Given the description of an element on the screen output the (x, y) to click on. 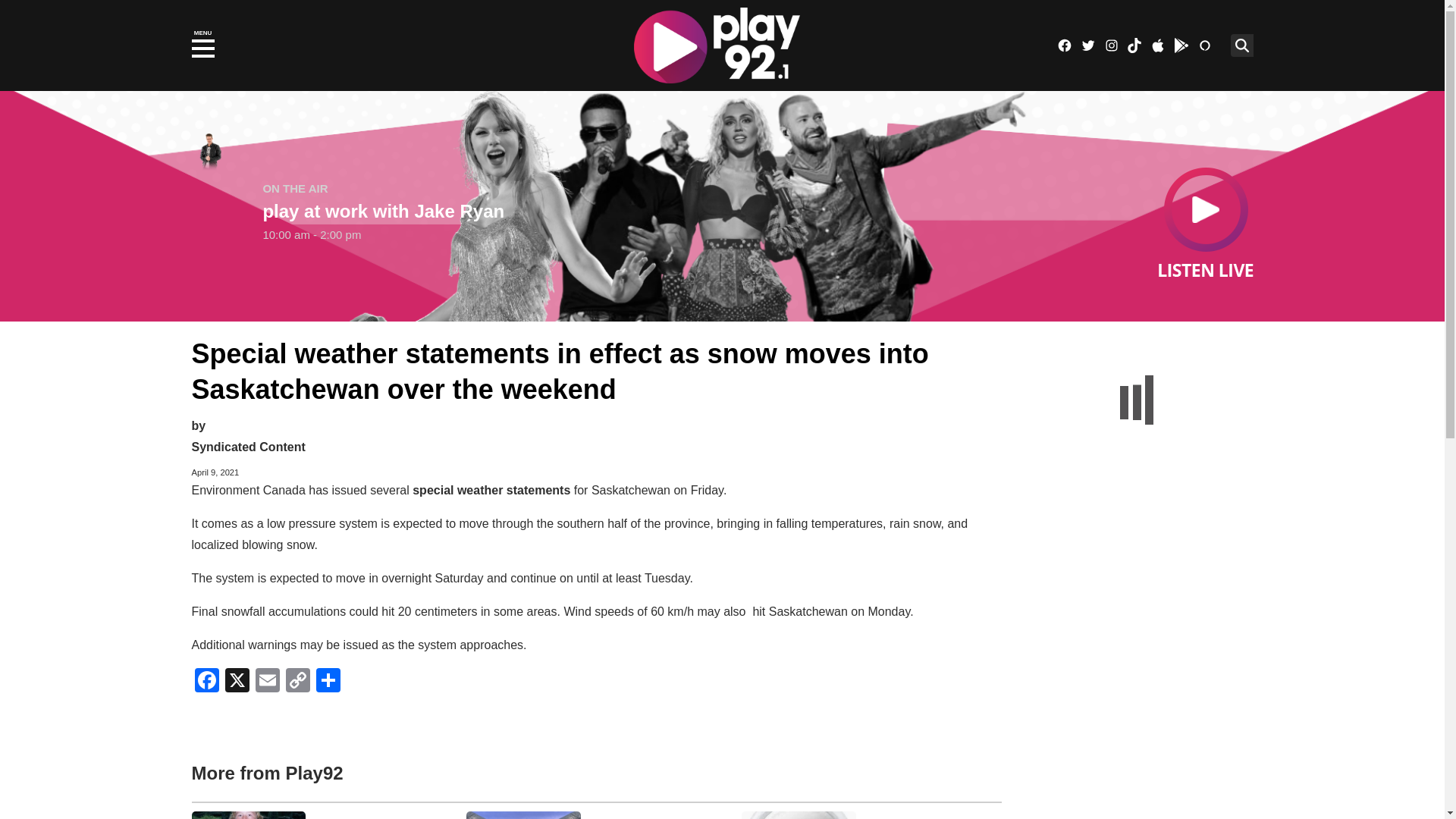
Facebook (205, 682)
Twitter (1088, 45)
Copy Link (297, 682)
Facebook (1064, 45)
Email (266, 682)
X (236, 682)
